Given the description of an element on the screen output the (x, y) to click on. 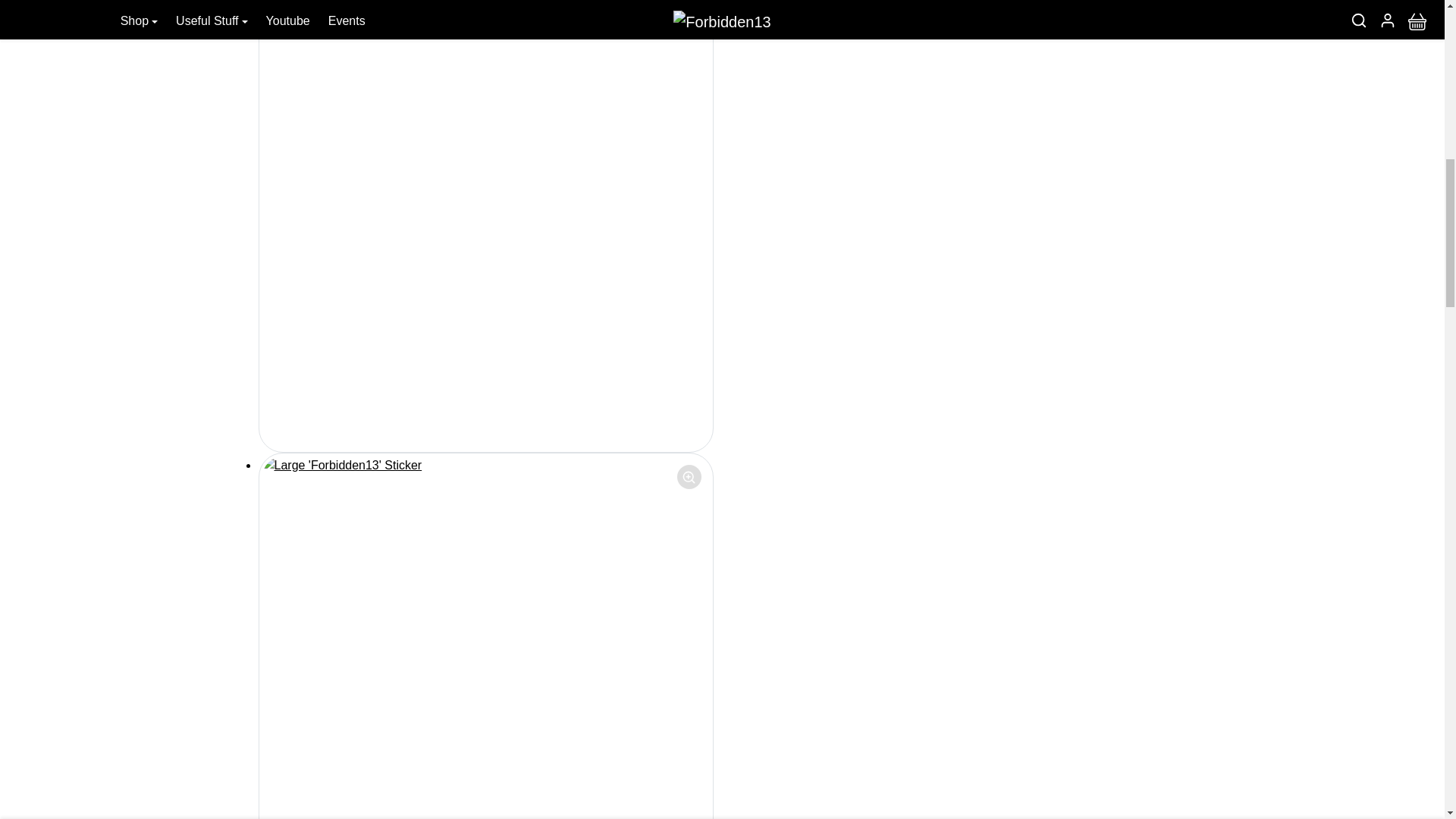
1 (790, 42)
